Given the description of an element on the screen output the (x, y) to click on. 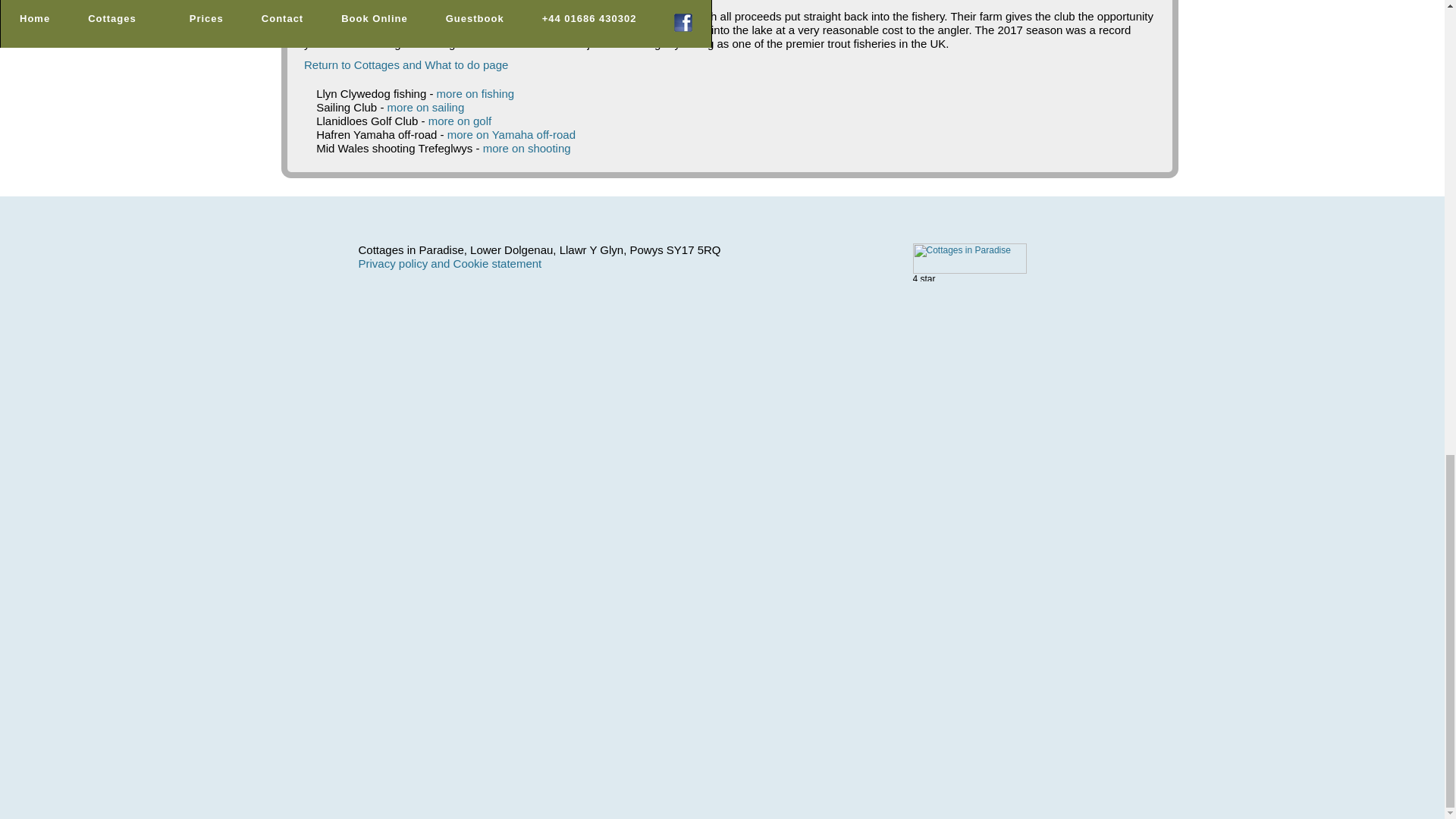
more on fishing (475, 92)
more on golf (460, 120)
more on Yamaha off-road (510, 133)
more on shooting (526, 147)
Services (406, 64)
Privacy policy and Cookie statement (449, 263)
more on sailing (425, 106)
Return to Cottages and What to do page (406, 64)
